Given the description of an element on the screen output the (x, y) to click on. 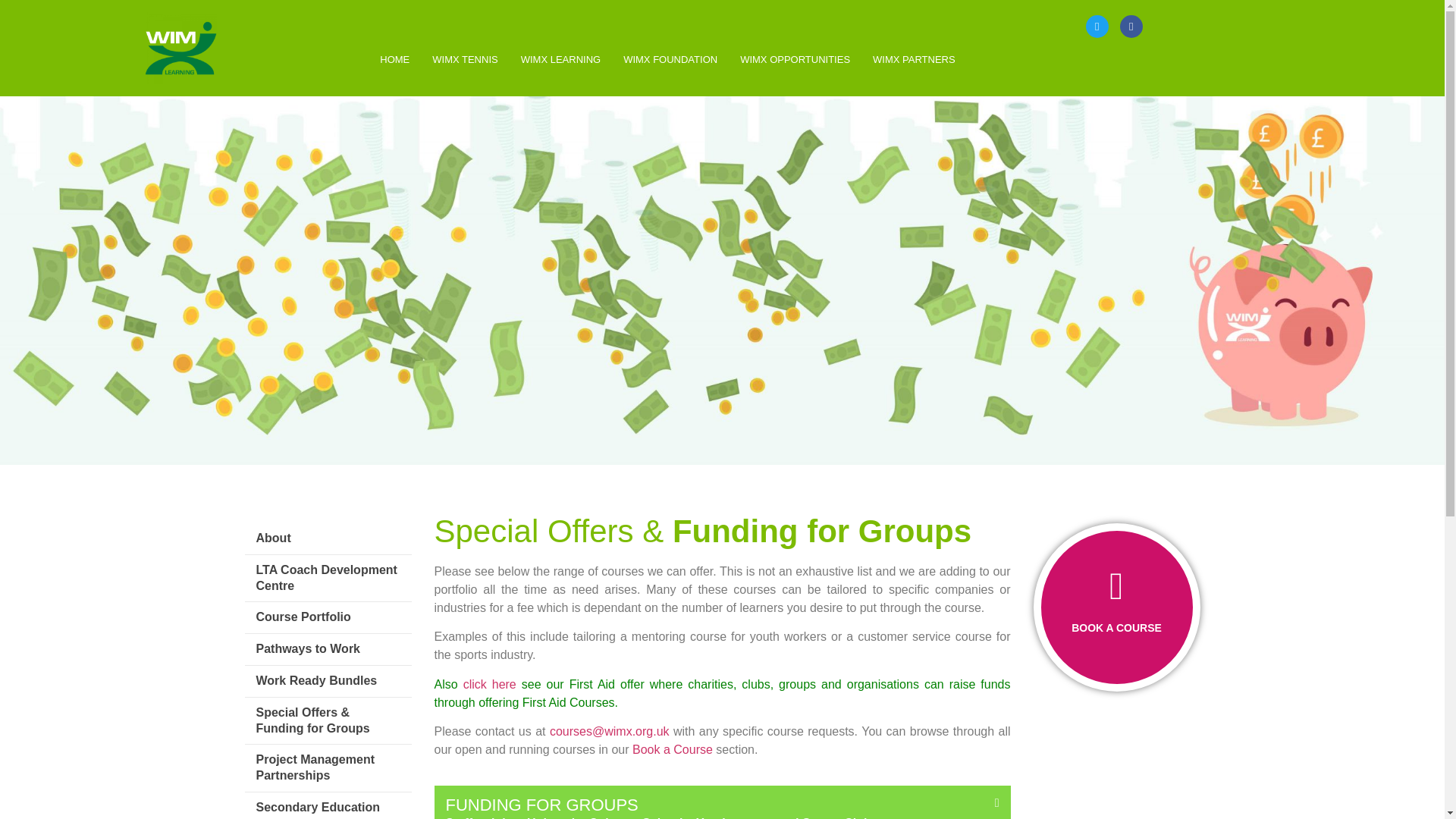
Work Ready Bundles (327, 680)
WIMX LEARNING (560, 59)
WIMX FOUNDATION (670, 59)
WIMX PARTNERS (913, 59)
HOME (394, 59)
Book a Course (672, 748)
WIMX TENNIS (464, 59)
Pathways to Work (327, 649)
About (327, 538)
click here (489, 684)
Course Portfolio (327, 617)
LTA Coach Development Centre (327, 578)
Project Management Partnerships (327, 767)
WIMX OPPORTUNITIES (795, 59)
Secondary Education (327, 805)
